Given the description of an element on the screen output the (x, y) to click on. 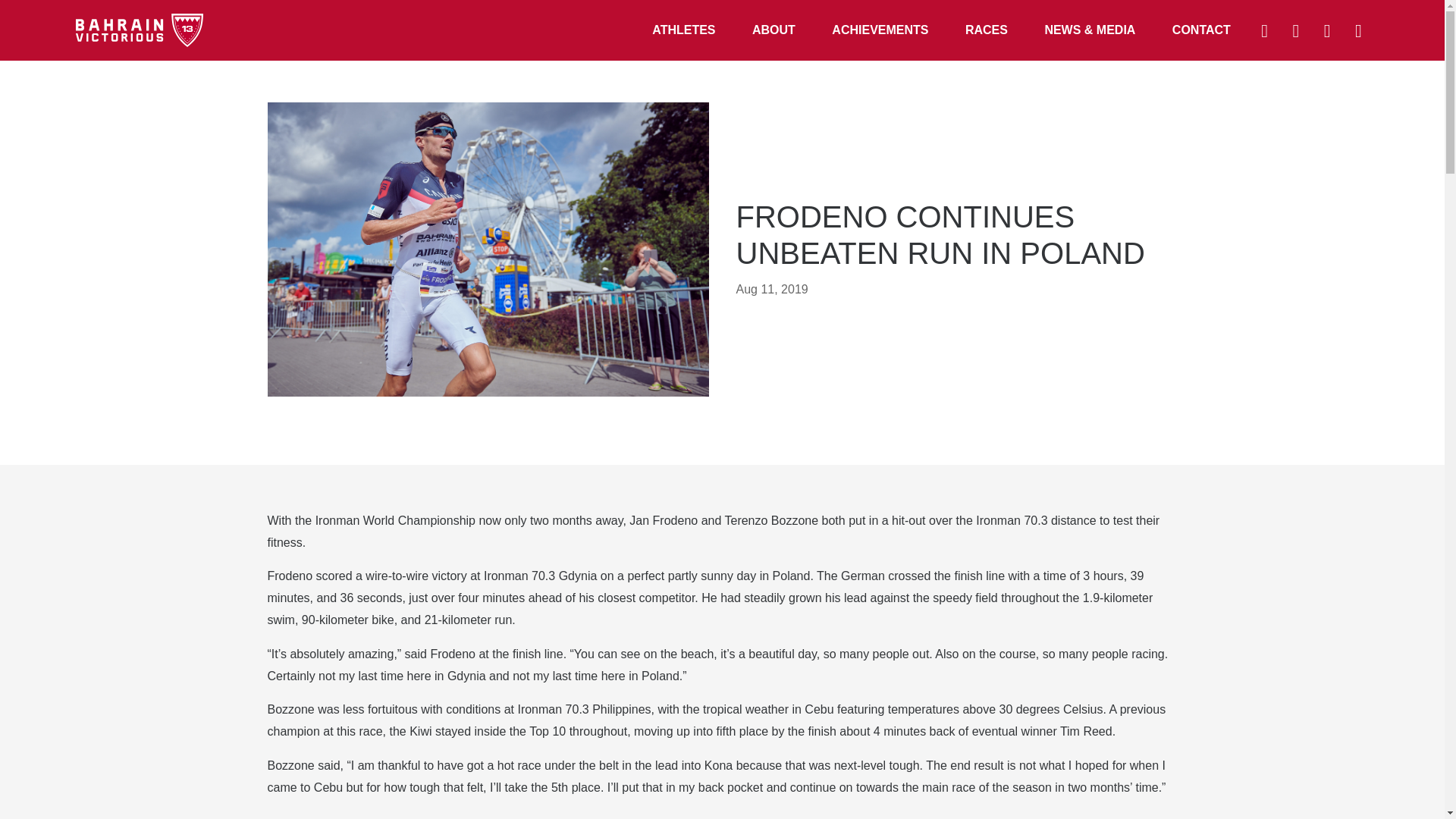
image3 (486, 249)
RACES (987, 30)
ABOUT (773, 30)
ACHIEVEMENTS (879, 30)
CONTACT (1201, 30)
ATHLETES (683, 30)
